Given the description of an element on the screen output the (x, y) to click on. 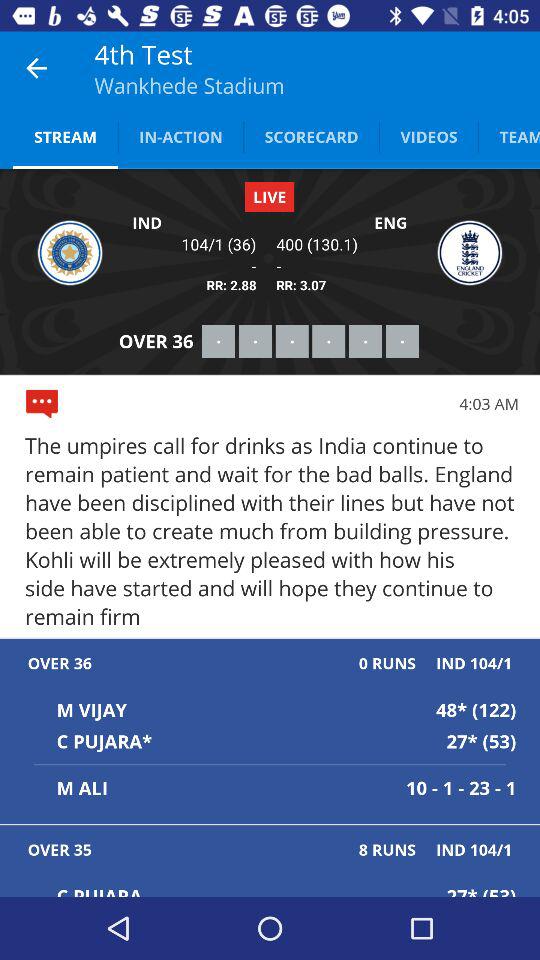
jump until the teams app (509, 136)
